Given the description of an element on the screen output the (x, y) to click on. 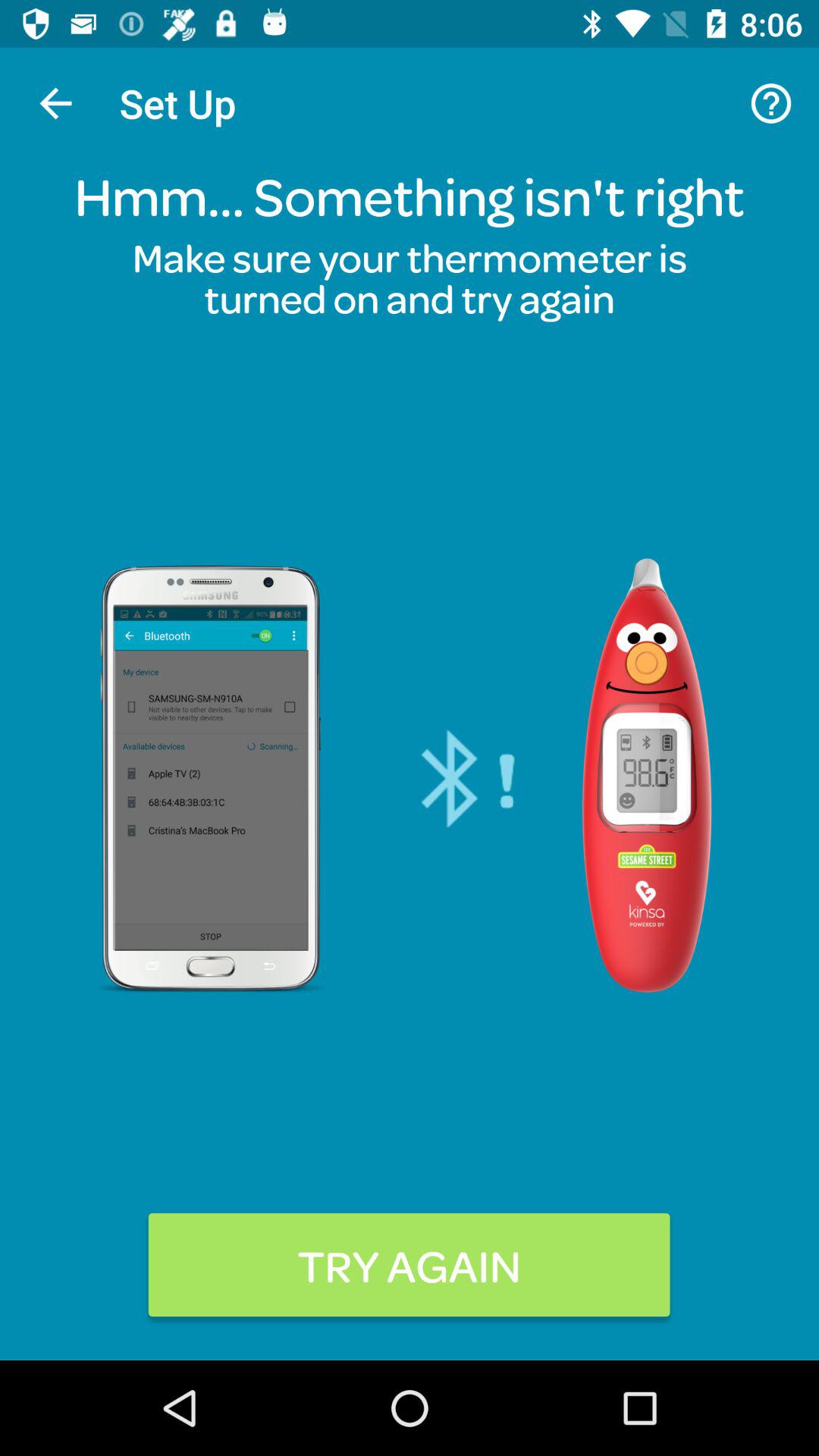
choose the icon above the hmm something isn icon (771, 103)
